Given the description of an element on the screen output the (x, y) to click on. 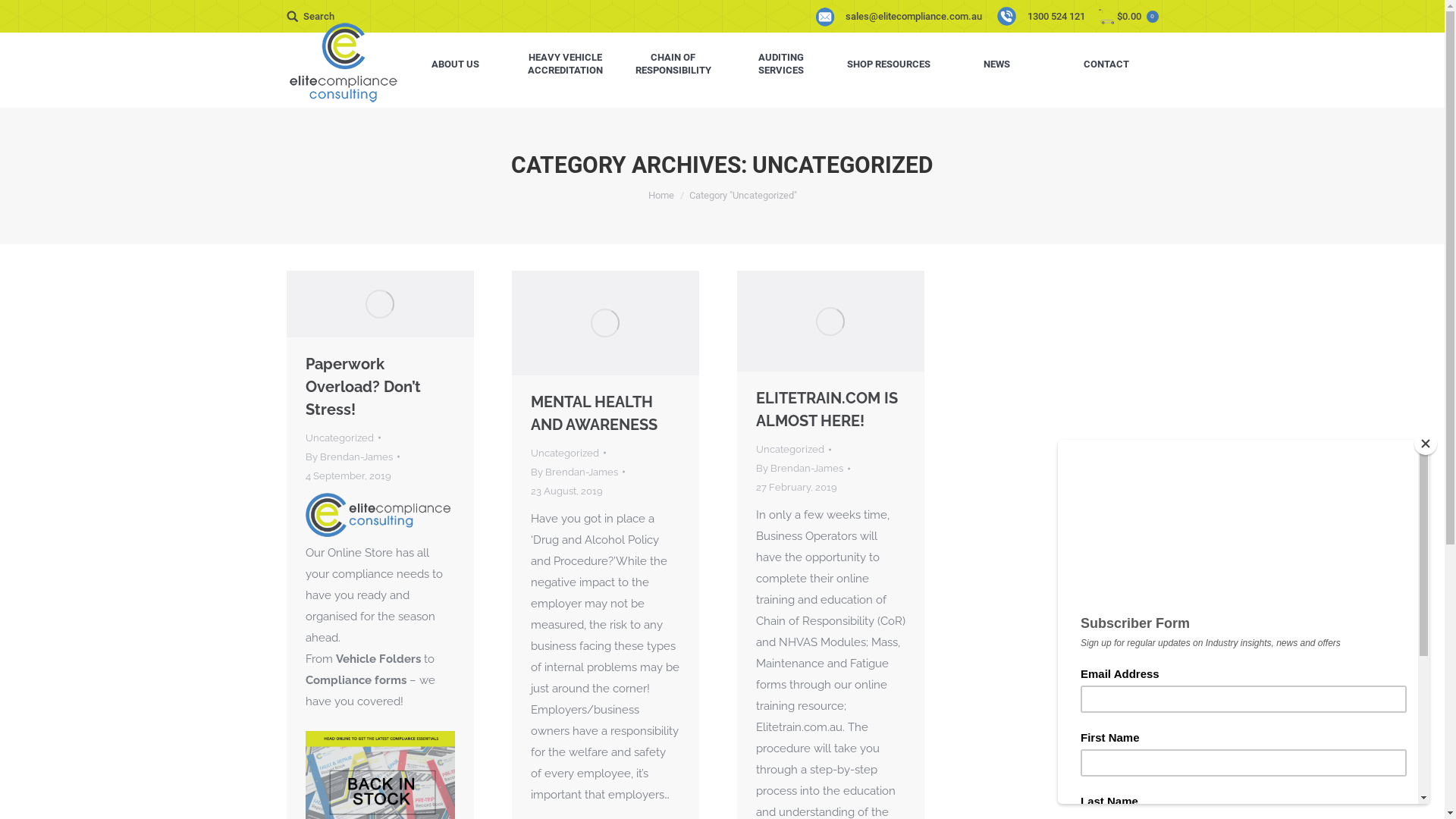
CHAIN OF RESPONSIBILITY Element type: text (673, 63)
By Brendan-James Element type: text (577, 471)
27 February, 2019 Element type: text (795, 486)
Uncategorized Element type: text (789, 449)
By Brendan-James Element type: text (802, 467)
AUDITING SERVICES Element type: text (780, 63)
$0.000 Element type: text (1128, 16)
Uncategorized Element type: text (338, 437)
CONTACT Element type: text (1106, 63)
SHOP RESOURCES Element type: text (888, 63)
ABOUT US Element type: text (455, 63)
Go! Element type: text (21, 14)
4 September, 2019 Element type: text (347, 475)
Home Element type: text (660, 194)
MENTAL HEALTH AND AWARENESS Element type: text (605, 413)
Search Element type: text (310, 16)
NEWS Element type: text (996, 63)
ELITETRAIN.COM IS ALMOST HERE! Element type: text (829, 409)
23 August, 2019 Element type: text (566, 490)
HEAVY VEHICLE ACCREDITATION Element type: text (565, 63)
Uncategorized Element type: text (564, 452)
By Brendan-James Element type: text (351, 456)
